Given the description of an element on the screen output the (x, y) to click on. 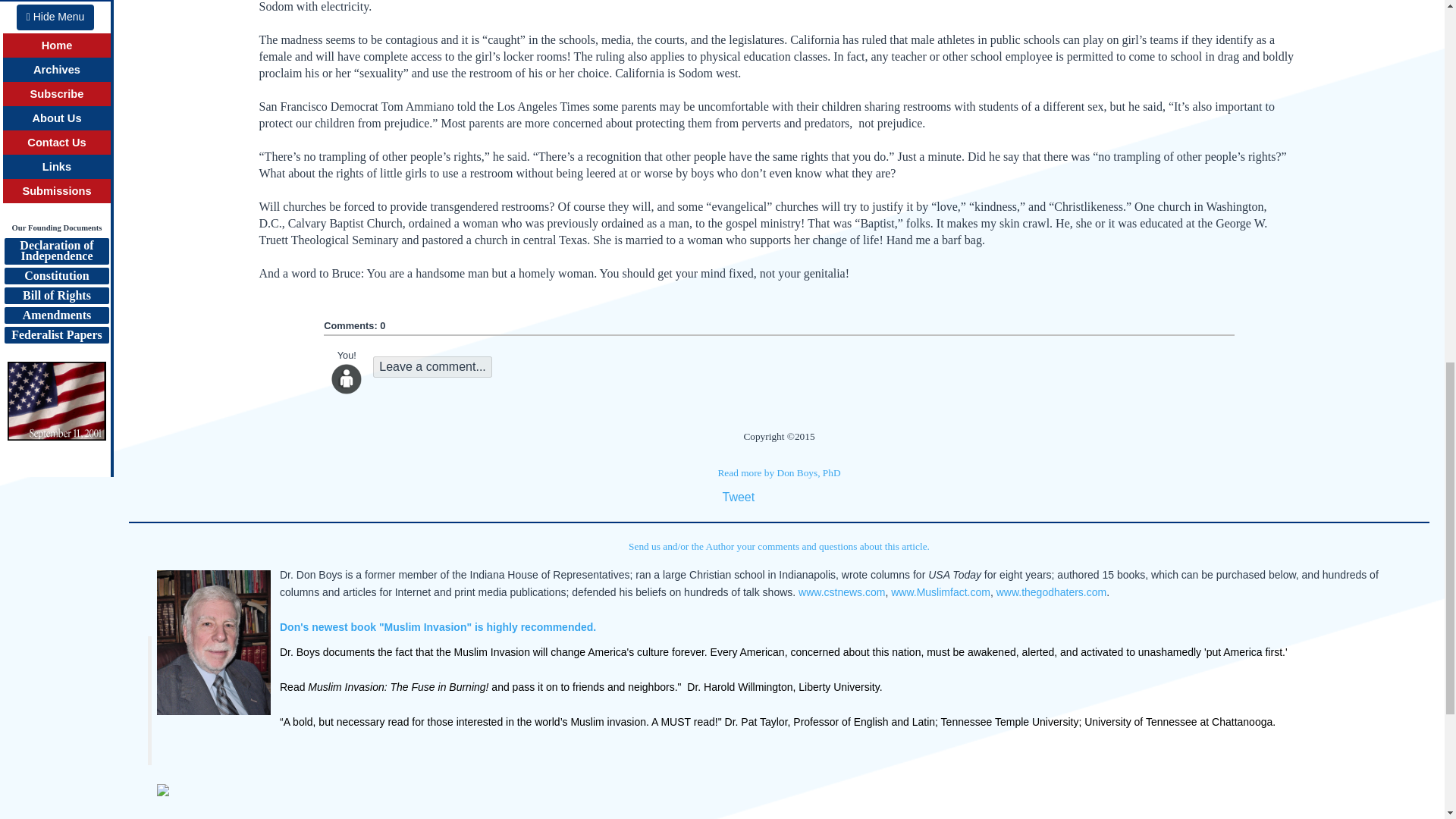
www.thegodhaters.com (1050, 592)
www.Muslimfact.com (940, 592)
Tweet (738, 496)
www.cstnews.com (841, 592)
Don's newest book "Muslim Invasion" is highly recommended. (437, 626)
Read more by Don Boys, PhD (778, 472)
Leave a comment... (432, 366)
